Given the description of an element on the screen output the (x, y) to click on. 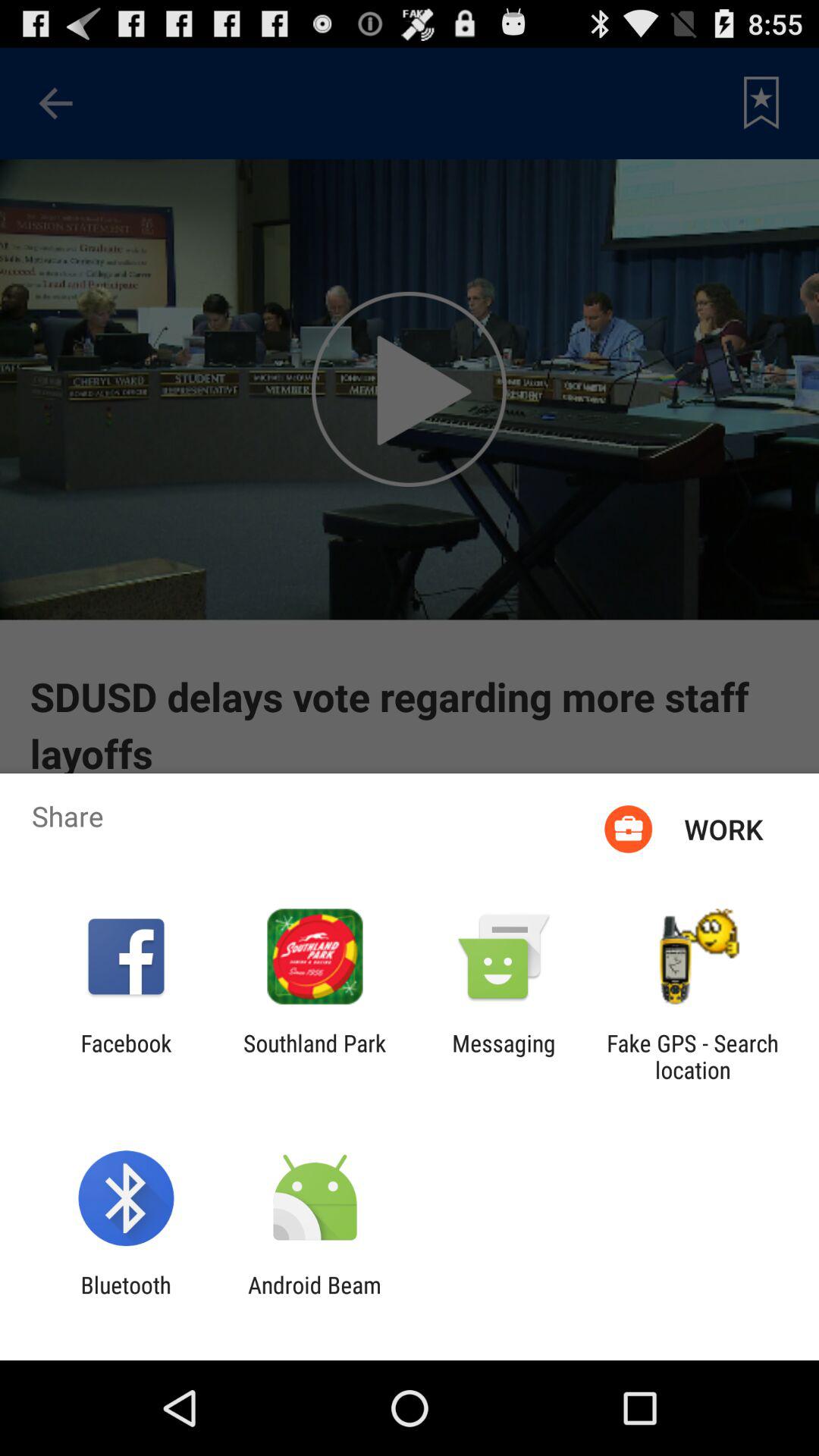
scroll to fake gps search item (692, 1056)
